Given the description of an element on the screen output the (x, y) to click on. 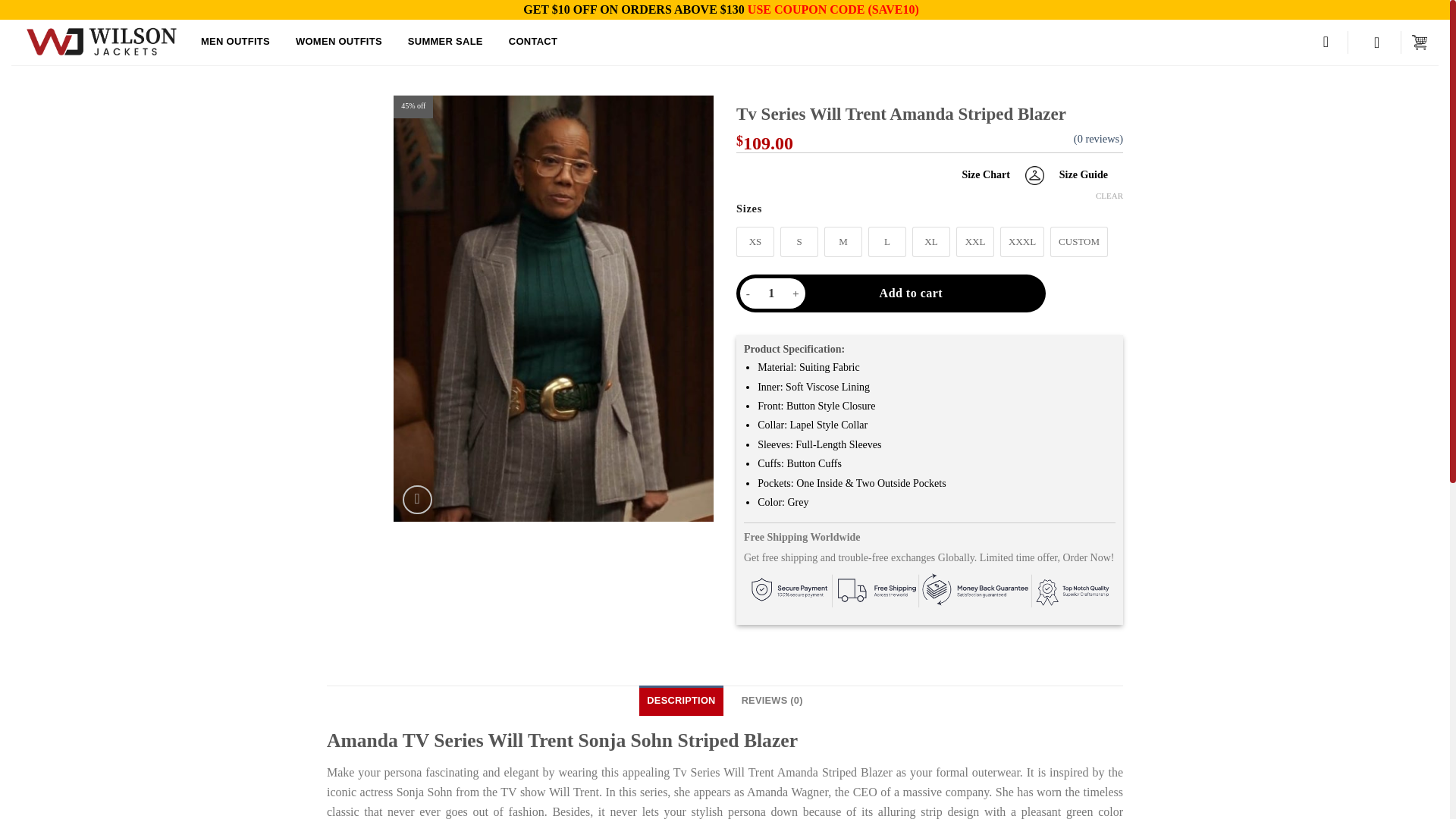
Zoom (417, 500)
Add to cart (911, 293)
Qty (770, 293)
1 (770, 293)
Wilson Jackets (100, 41)
MEN OUTFITS (234, 42)
Size Chart (992, 174)
SUMMER SALE (445, 42)
WOMEN OUTFITS (338, 42)
CONTACT (532, 42)
